Given the description of an element on the screen output the (x, y) to click on. 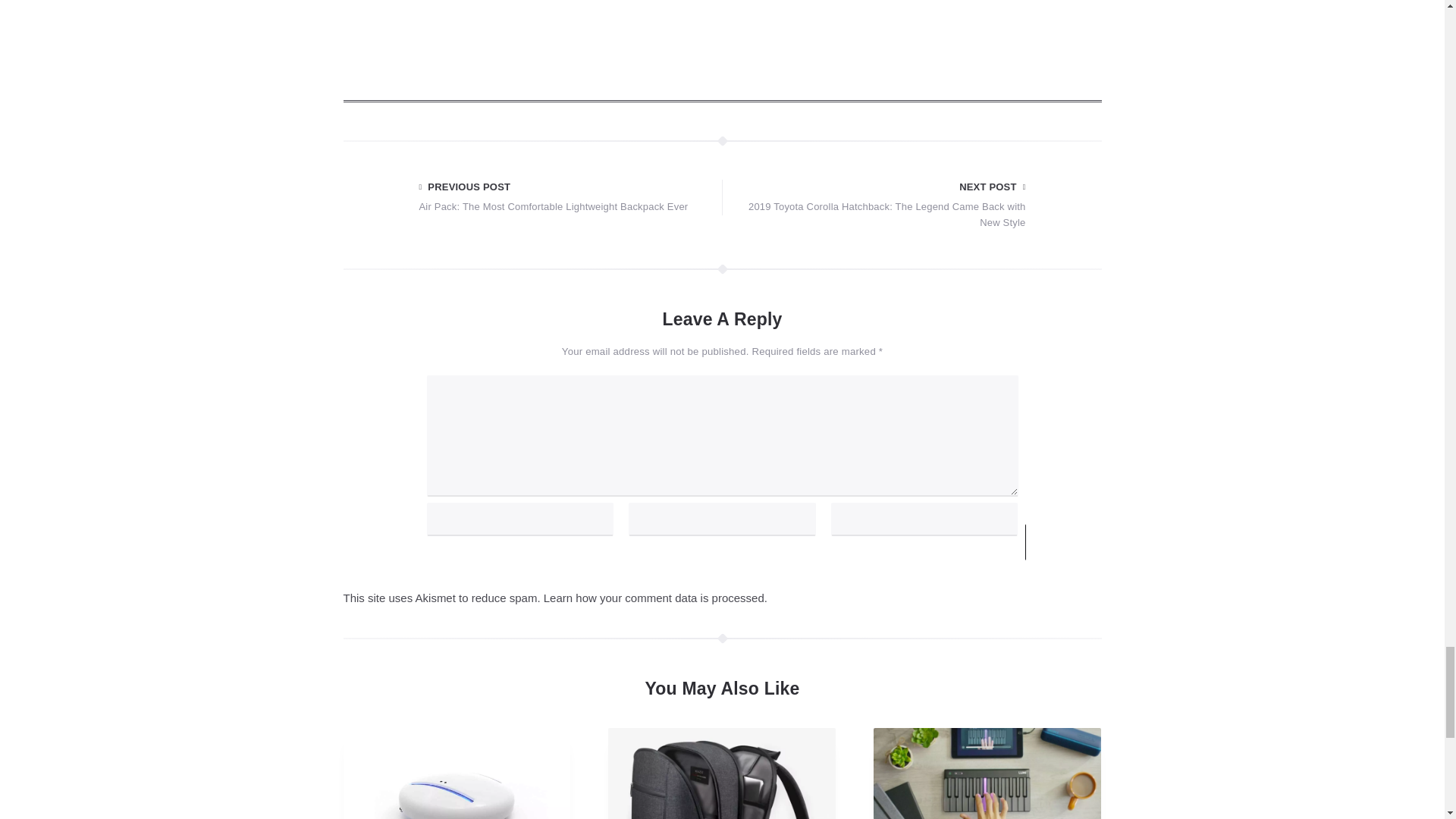
Post comment (1089, 542)
Learn how your comment data is processed (653, 597)
Post comment (1089, 542)
